Given the description of an element on the screen output the (x, y) to click on. 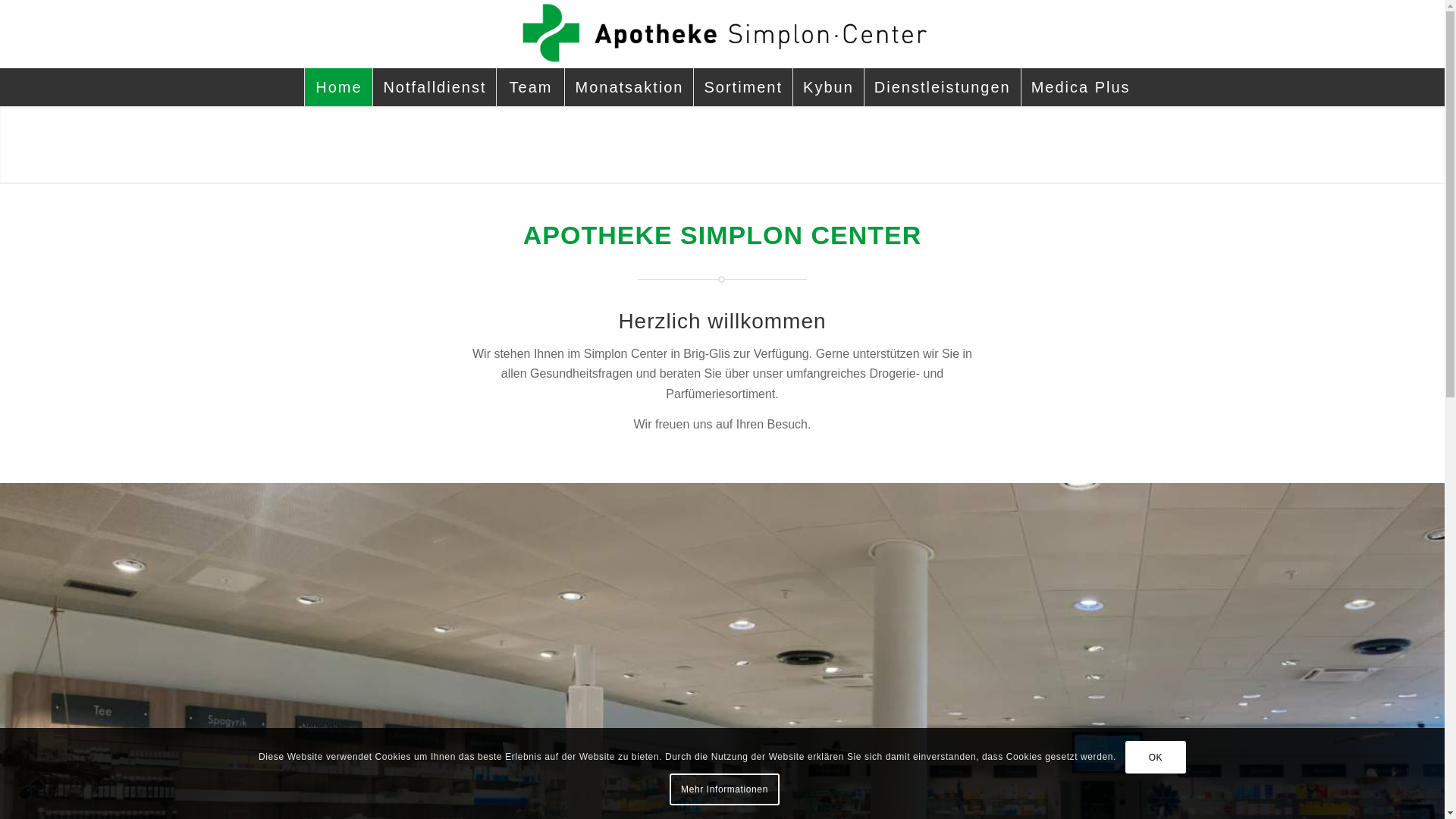
Home Element type: text (338, 87)
Mehr Informationen Element type: text (724, 789)
Kybun Element type: text (827, 87)
Monatsaktion Element type: text (628, 87)
OK Element type: text (1155, 757)
Team Element type: text (529, 87)
Medica Plus Element type: text (1080, 87)
logo Element type: hover (721, 34)
Sortiment Element type: text (742, 87)
Dienstleistungen Element type: text (941, 87)
Notfalldienst Element type: text (433, 87)
